Given the description of an element on the screen output the (x, y) to click on. 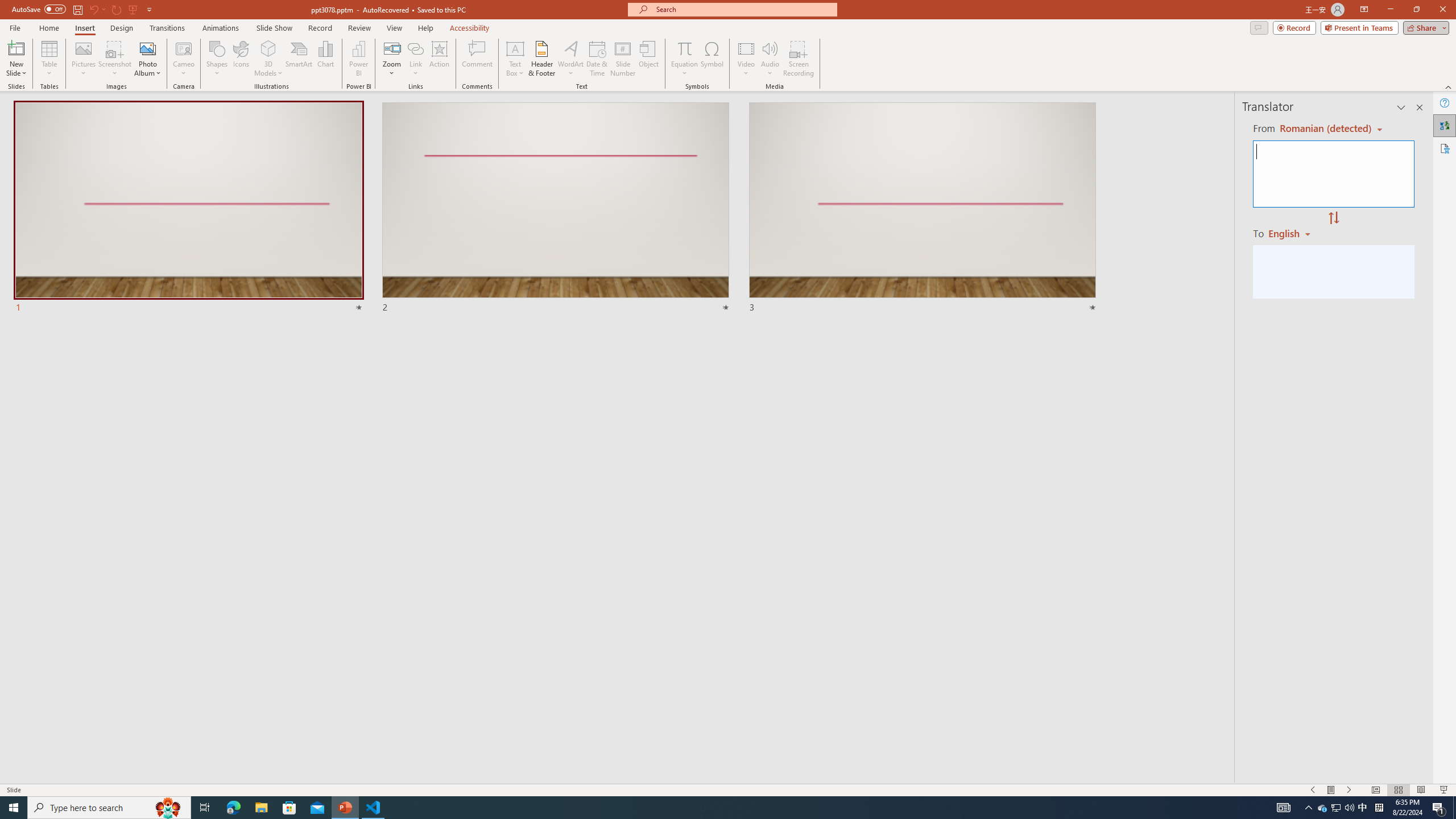
Header & Footer... (541, 58)
Slide Show Previous On (1313, 790)
3D Models (268, 58)
Menu On (1331, 790)
